Given the description of an element on the screen output the (x, y) to click on. 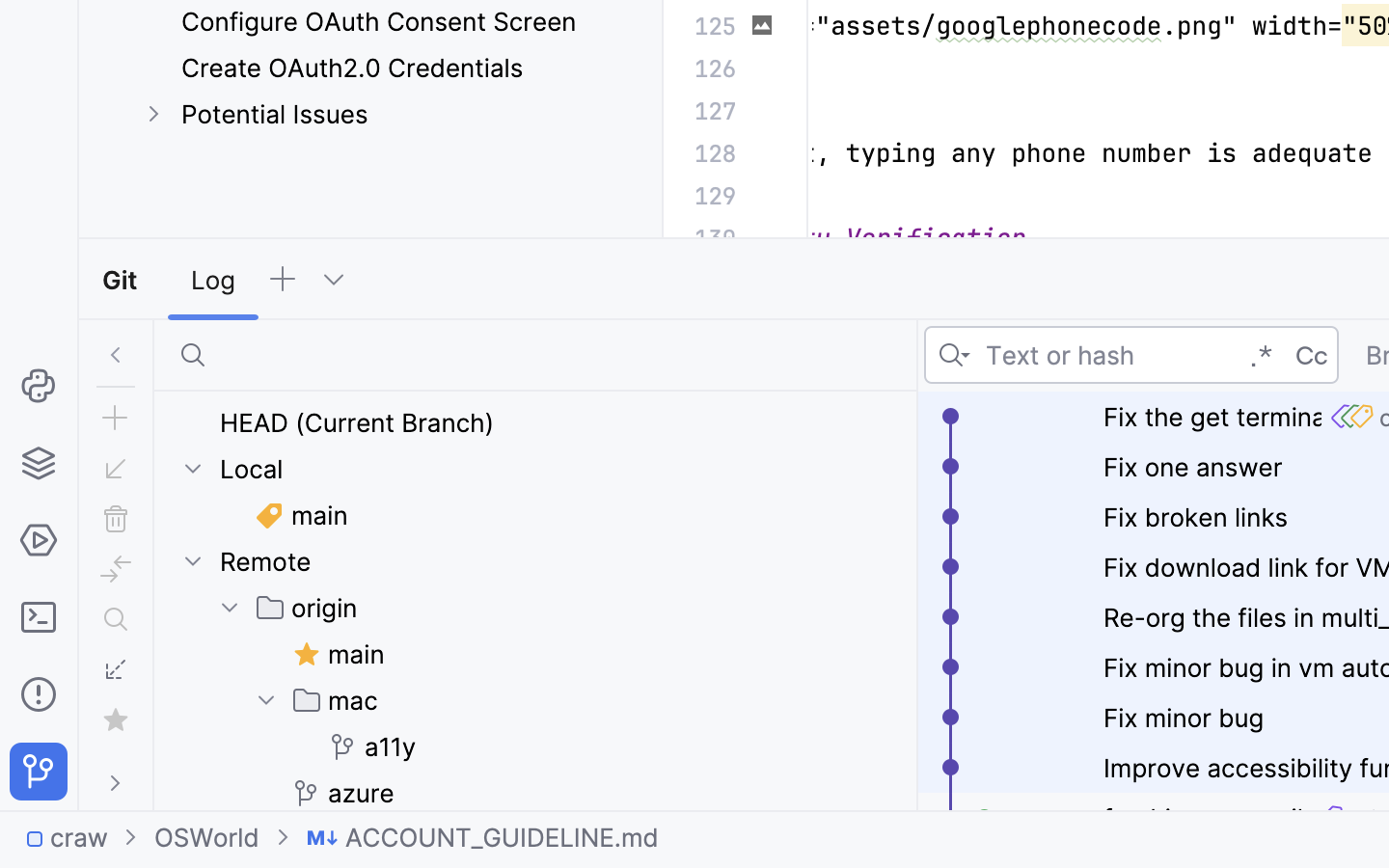
Git Element type: AXStaticText (123, 279)
Log Element type: AXStaticText (212, 279)
azure Element type: AXStaticText (344, 792)
